Given the description of an element on the screen output the (x, y) to click on. 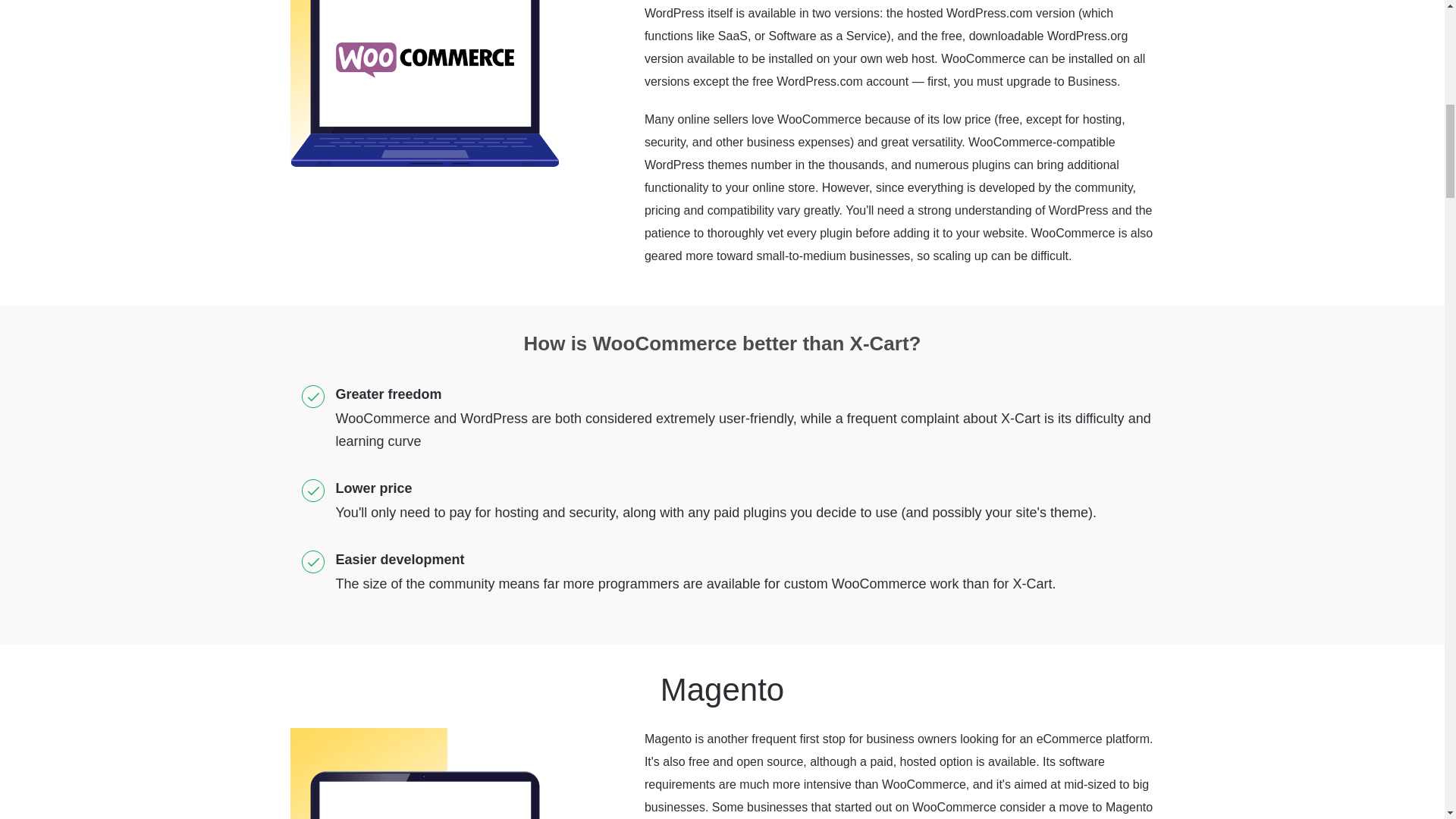
WooCommerce (423, 83)
Magento (423, 773)
